Given the description of an element on the screen output the (x, y) to click on. 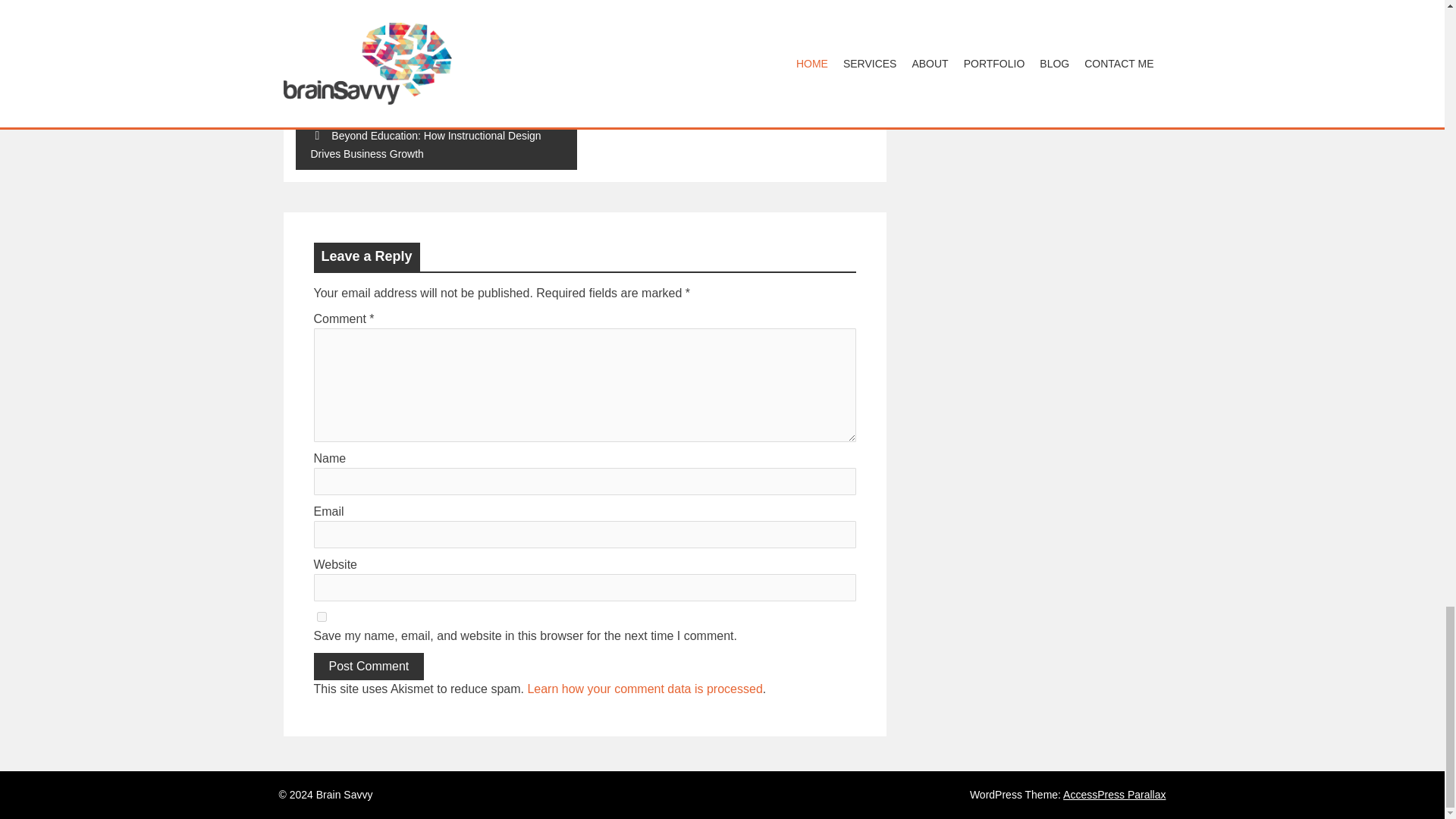
Share via Email (418, 1)
WordPress Free Themes (1114, 794)
Post Comment (369, 666)
Post Comment (369, 666)
Share on LinkedIn (388, 1)
Share on Twitter (356, 1)
Learn how your comment data is processed (644, 688)
Share on Facebook (326, 1)
yes (321, 616)
